Given the description of an element on the screen output the (x, y) to click on. 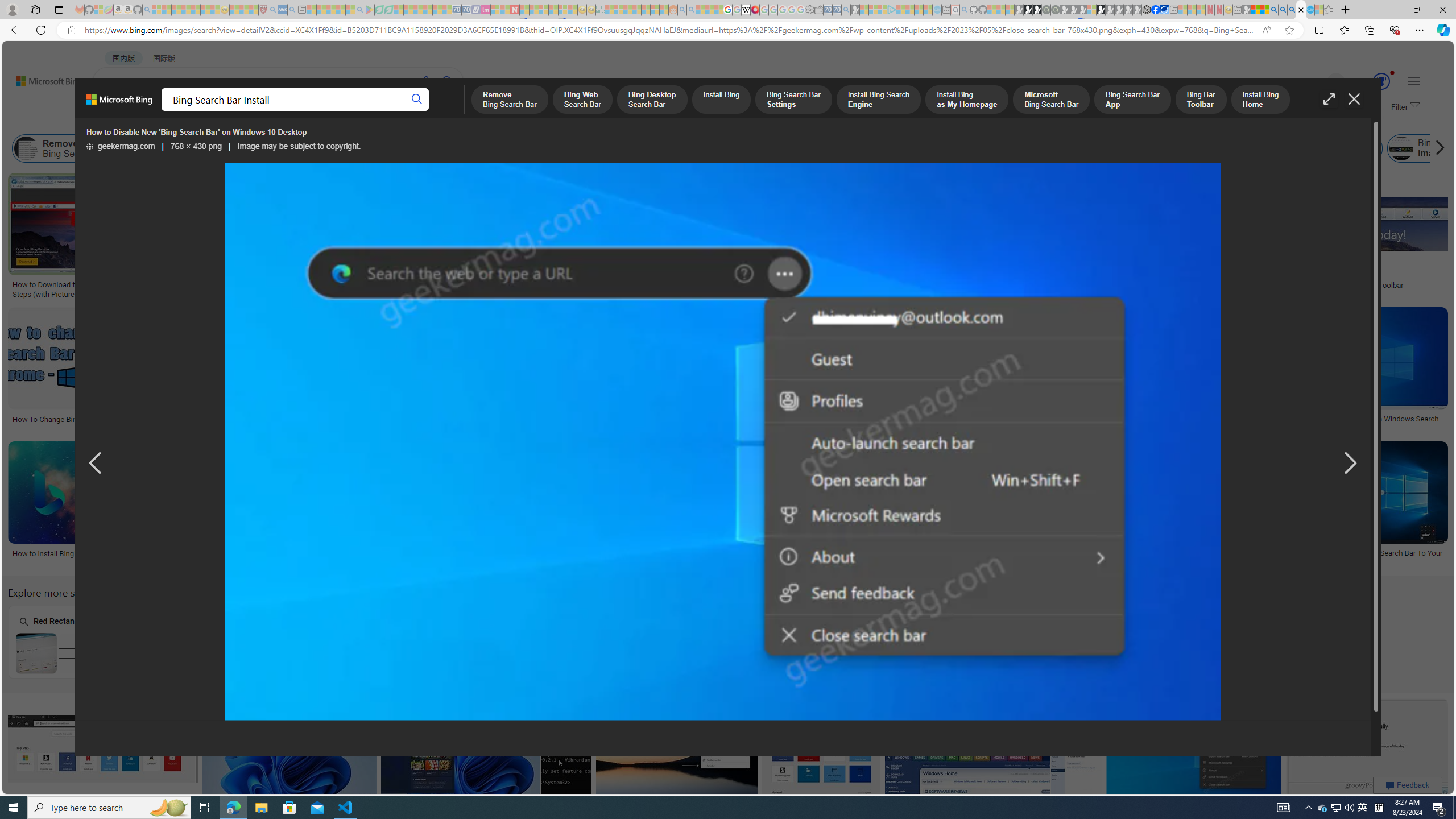
Install Bing Home (1112, 148)
Install Bing Search Engine (543, 148)
Settings and quick links (1413, 80)
